Given the description of an element on the screen output the (x, y) to click on. 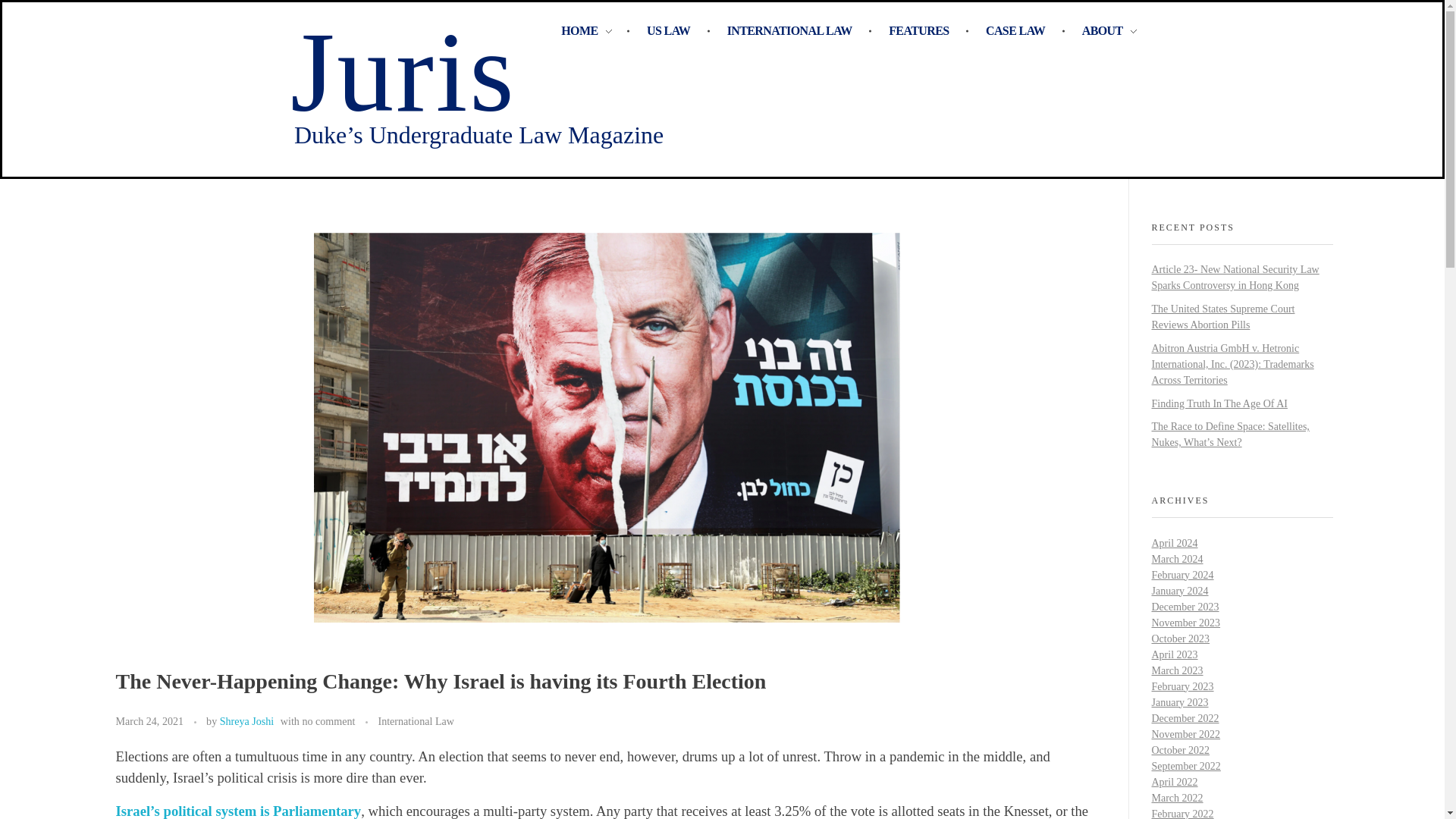
January 2024 (1179, 591)
FEATURES (920, 30)
December 2023 (1184, 606)
March 2023 (1176, 670)
The United States Supreme Court Reviews Abortion Pills (1222, 316)
Juris (402, 72)
April 2023 (1173, 654)
Shreya Joshi (247, 720)
INTERNATIONAL LAW (792, 30)
Juris (402, 72)
November 2023 (1185, 622)
CASE LAW (1017, 30)
February 2024 (1181, 574)
HOME (595, 30)
